Given the description of an element on the screen output the (x, y) to click on. 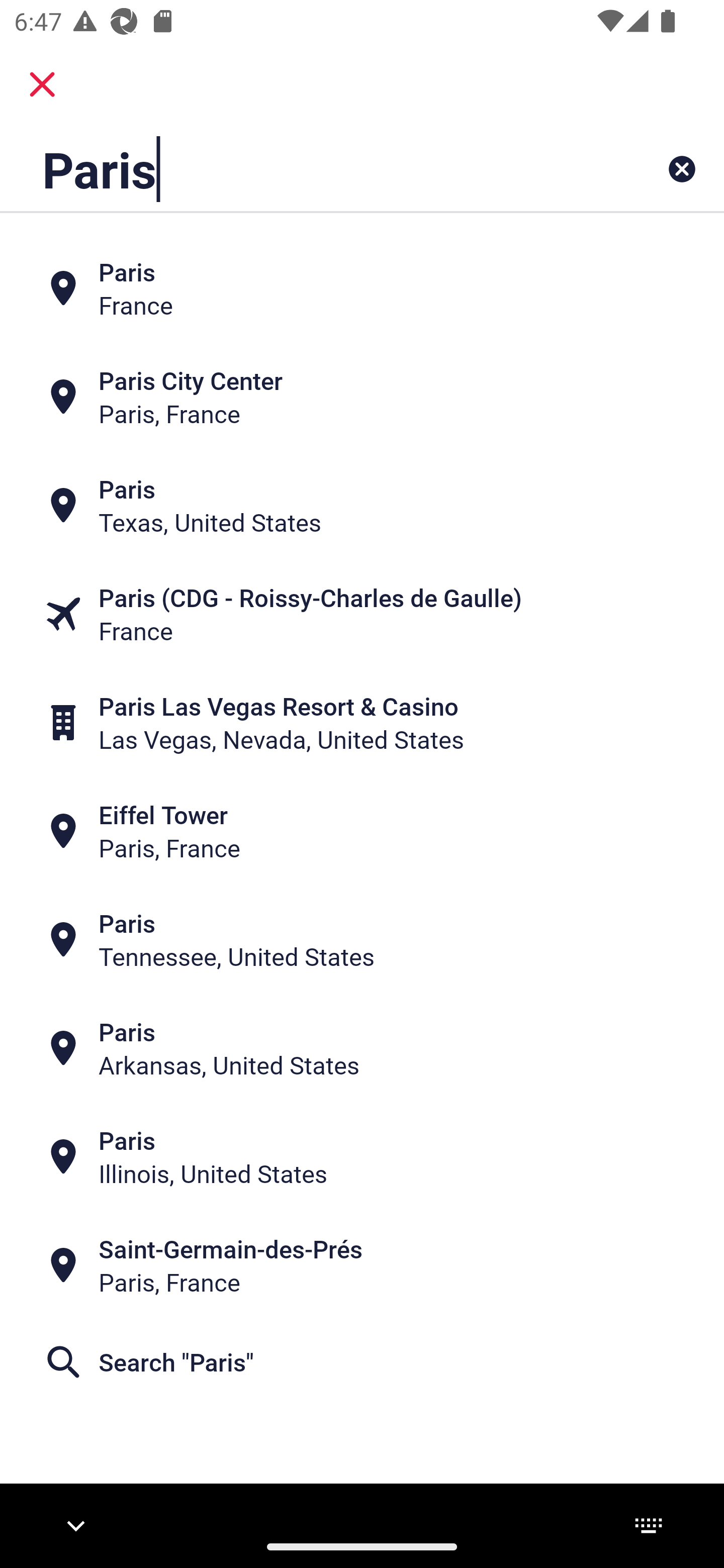
close. (42, 84)
Clear (681, 169)
Paris (298, 169)
Paris France (362, 288)
Paris City Center Paris, France (362, 397)
Paris Texas, United States (362, 505)
Paris (CDG - Roissy-Charles de Gaulle) France (362, 613)
Eiffel Tower Paris, France (362, 831)
Paris Tennessee, United States (362, 939)
Paris Arkansas, United States (362, 1048)
Paris Illinois, United States (362, 1156)
Saint-Germain-des-Prés Paris, France (362, 1265)
Search "Paris" (362, 1362)
